Given the description of an element on the screen output the (x, y) to click on. 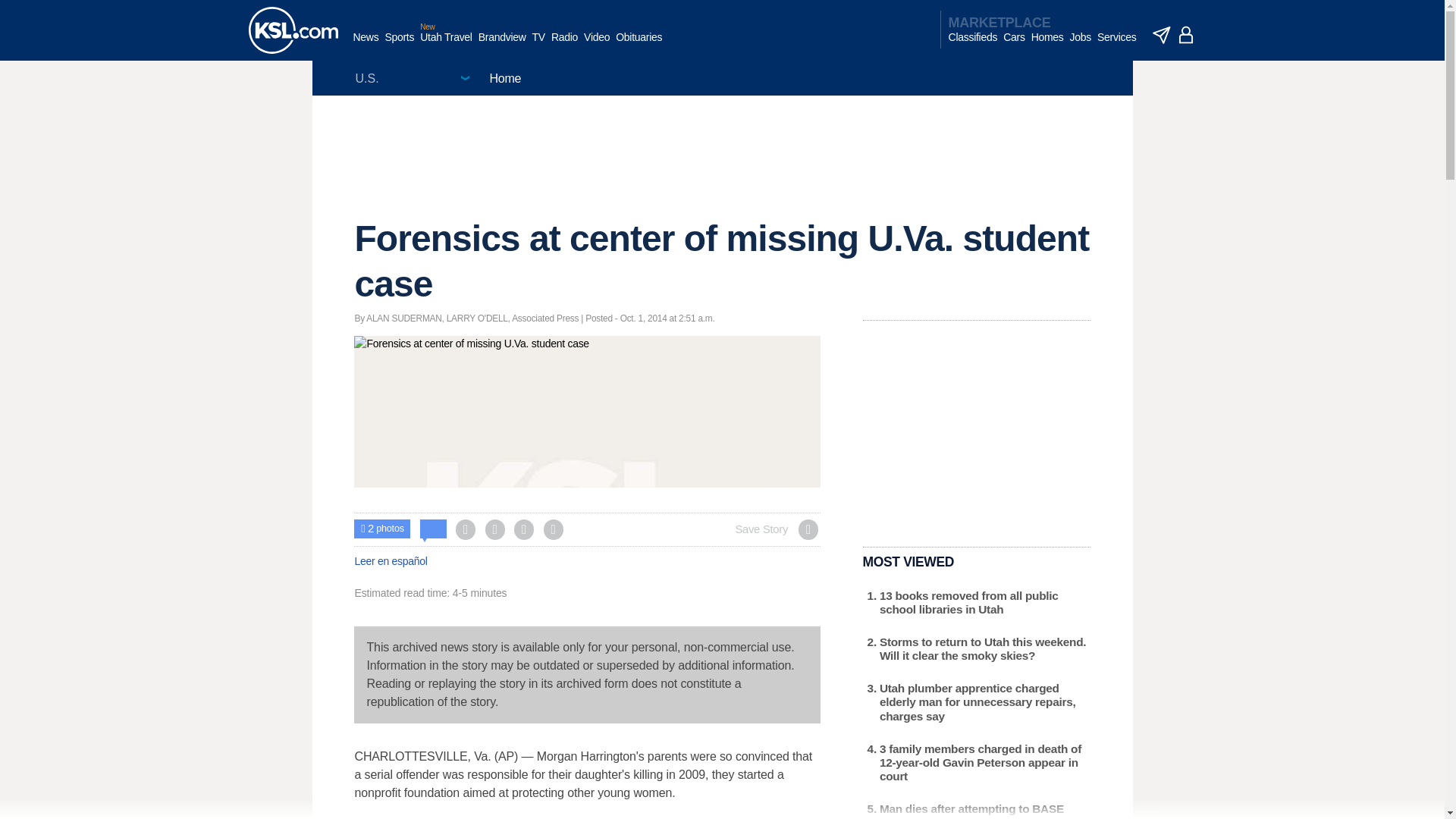
KSL homepage (292, 29)
account - logged out (1185, 34)
Brandview (502, 45)
Sports (398, 45)
Utah Travel (445, 45)
KSL homepage (292, 30)
